Given the description of an element on the screen output the (x, y) to click on. 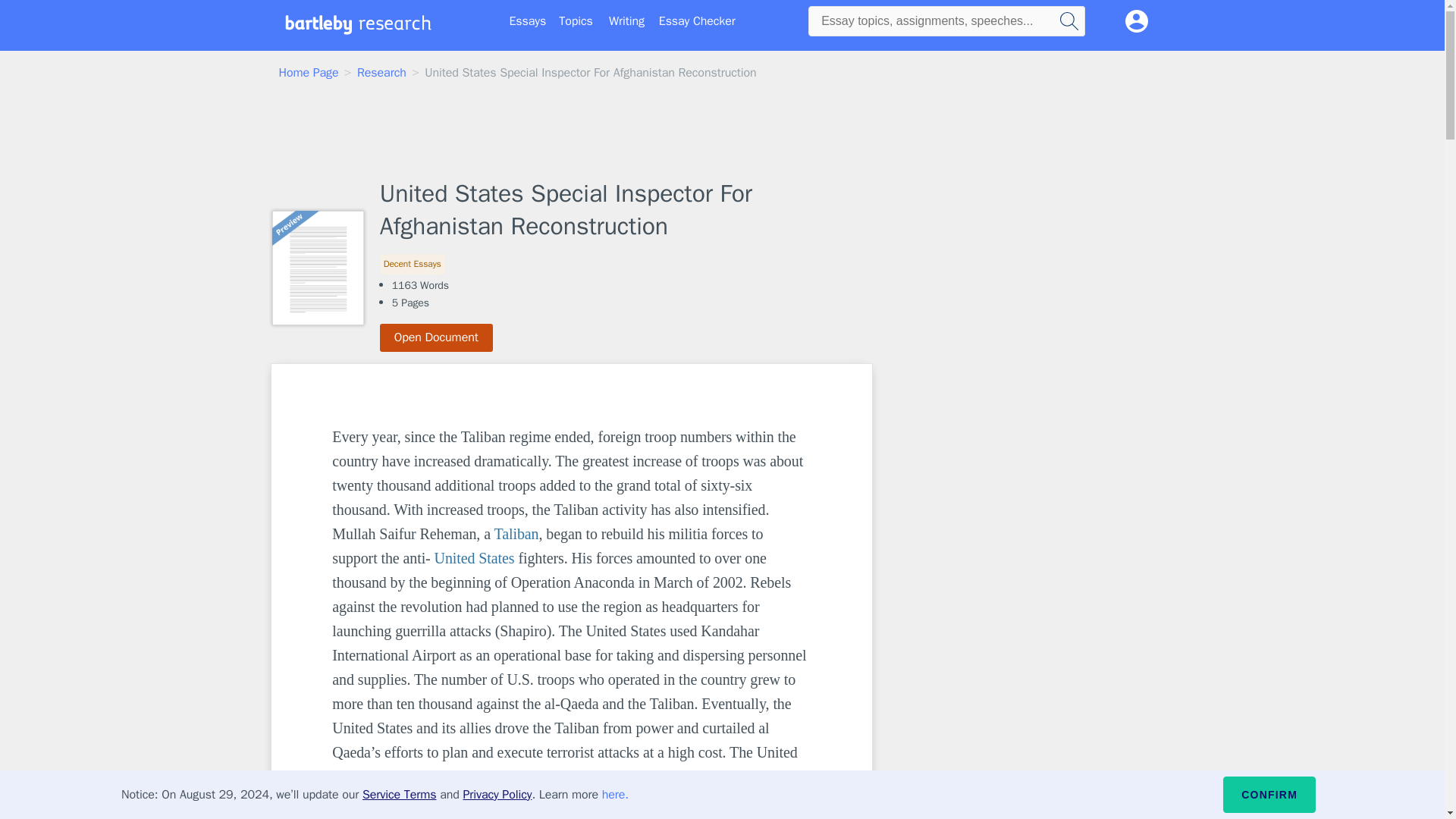
Research (381, 72)
United States (474, 557)
Writing (626, 20)
Taliban (516, 533)
Open Document (436, 337)
Topics (575, 20)
Essays (528, 20)
Afghanistan (532, 776)
Essay Checker (697, 20)
Home Page (309, 72)
